Given the description of an element on the screen output the (x, y) to click on. 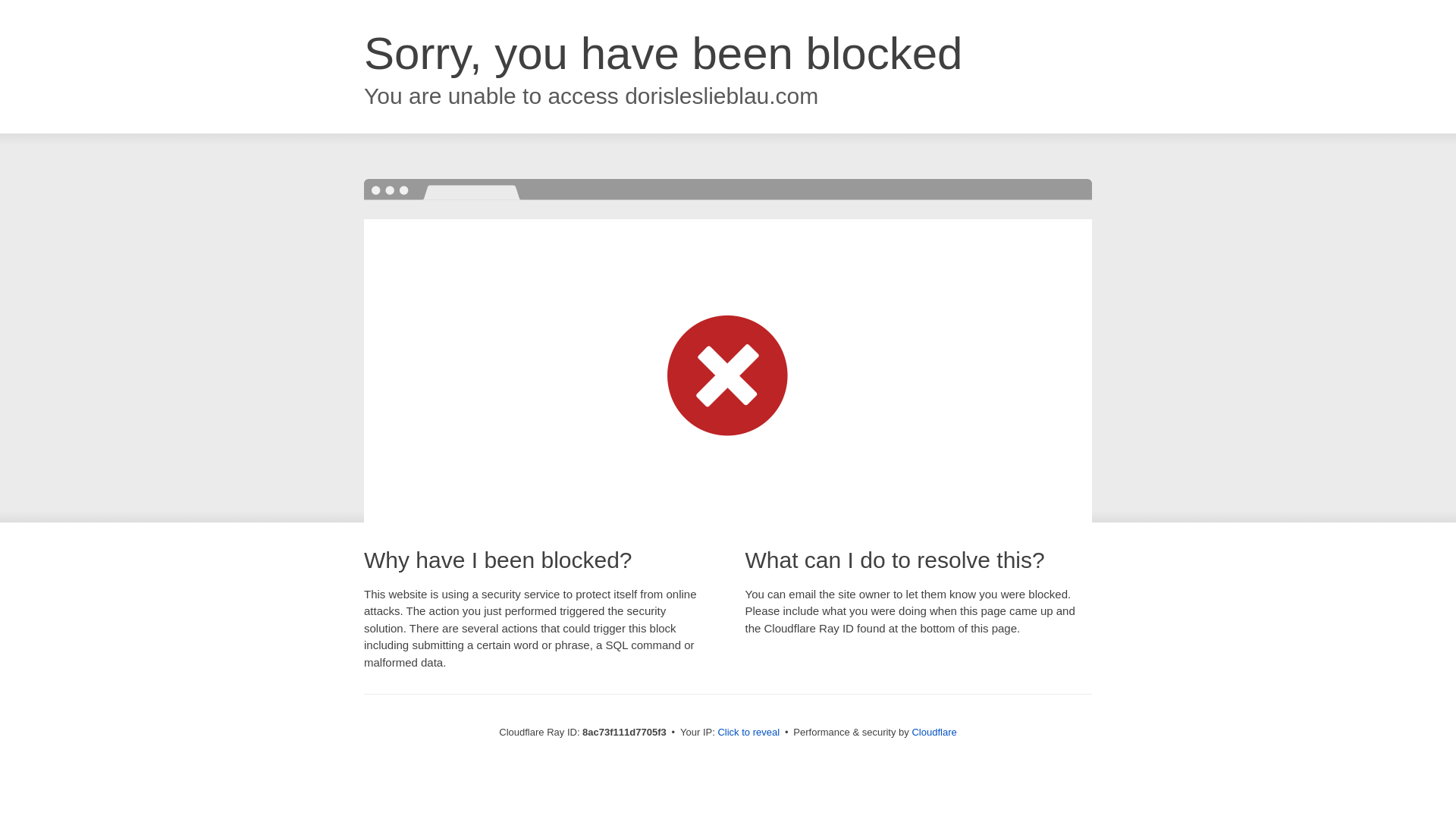
Cloudflare (933, 731)
Click to reveal (747, 732)
